Given the description of an element on the screen output the (x, y) to click on. 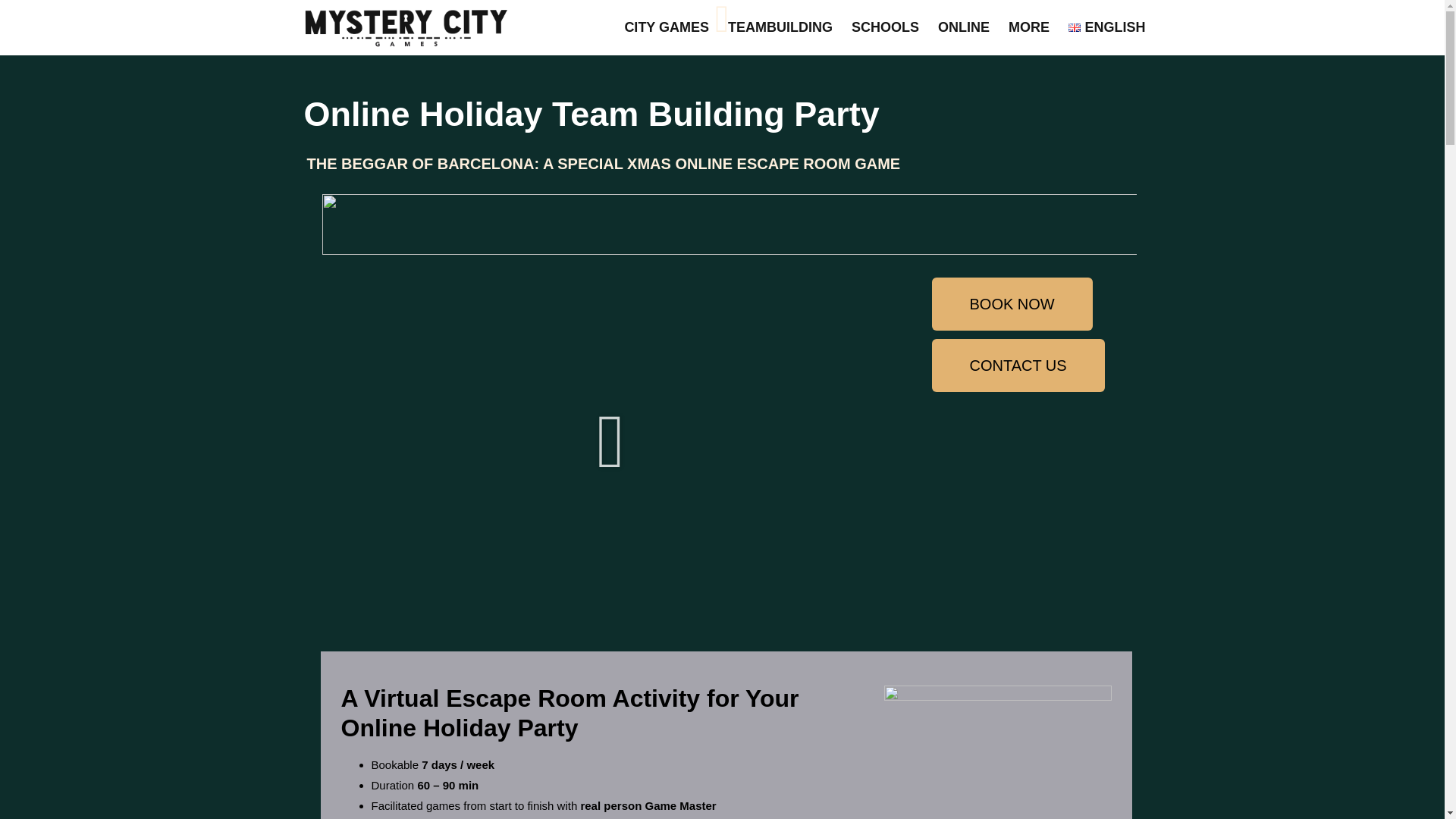
CITY GAMES (666, 27)
TEAMBUILDING (780, 27)
SCHOOLS (884, 27)
